Given the description of an element on the screen output the (x, y) to click on. 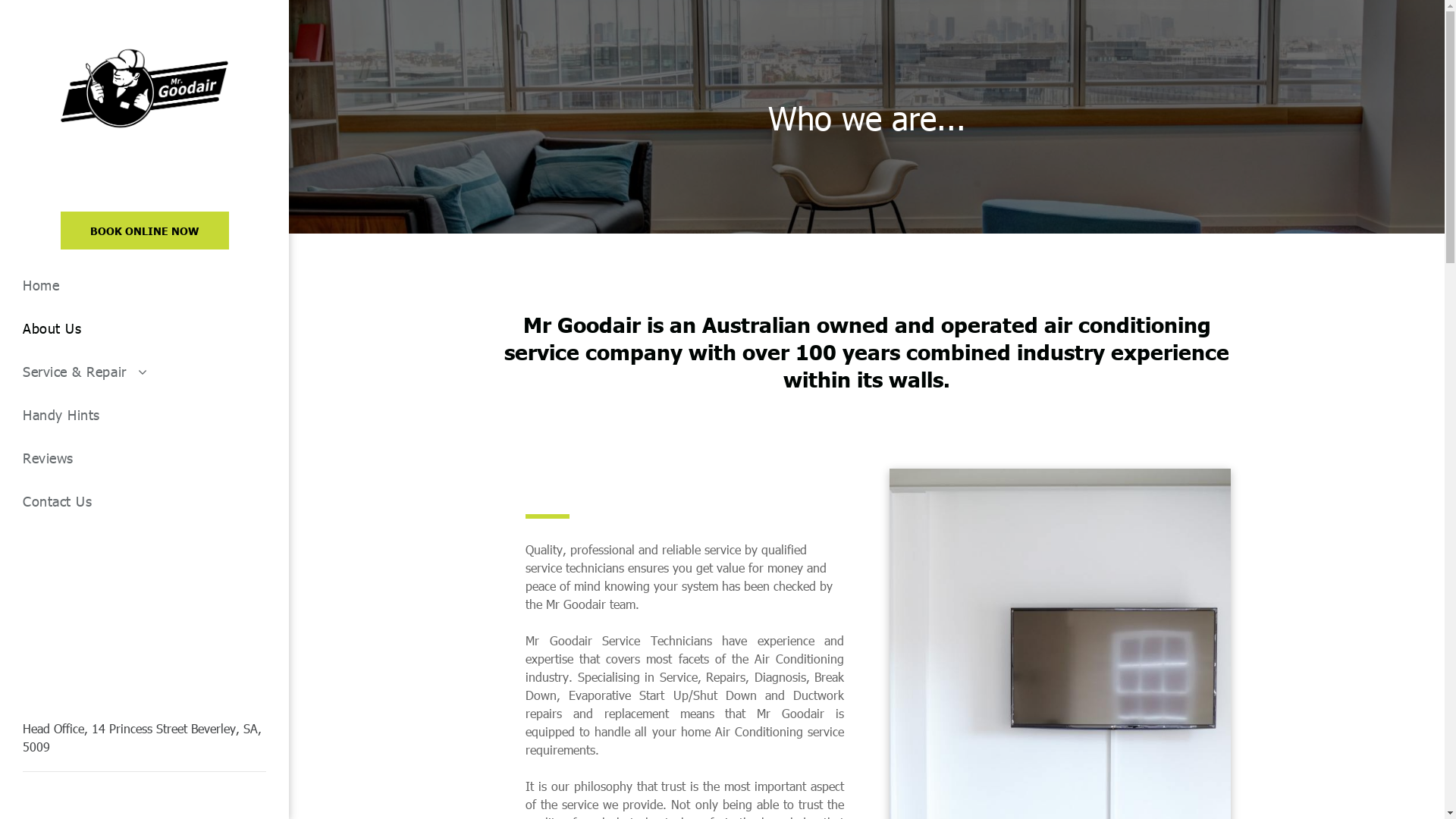
Contact Us Element type: text (144, 500)
Handy Hints Element type: text (144, 414)
Service & Repair Element type: text (144, 370)
Reviews Element type: text (144, 457)
Home Element type: text (144, 284)
About Us Element type: text (144, 327)
BOOK ONLINE NOW Element type: text (144, 230)
